Given the description of an element on the screen output the (x, y) to click on. 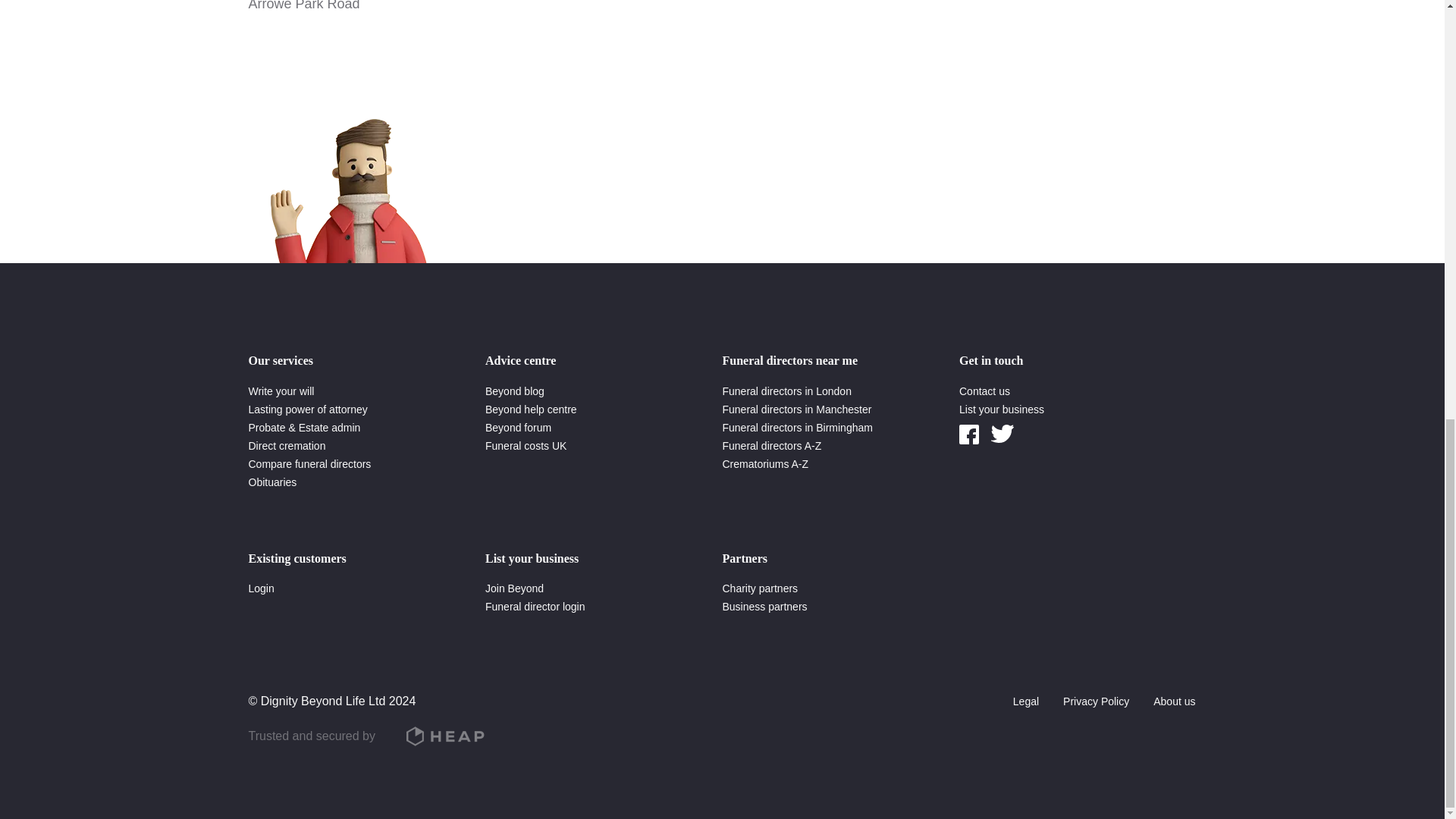
Write your will (281, 390)
Lasting power of attorney (308, 409)
